Given the description of an element on the screen output the (x, y) to click on. 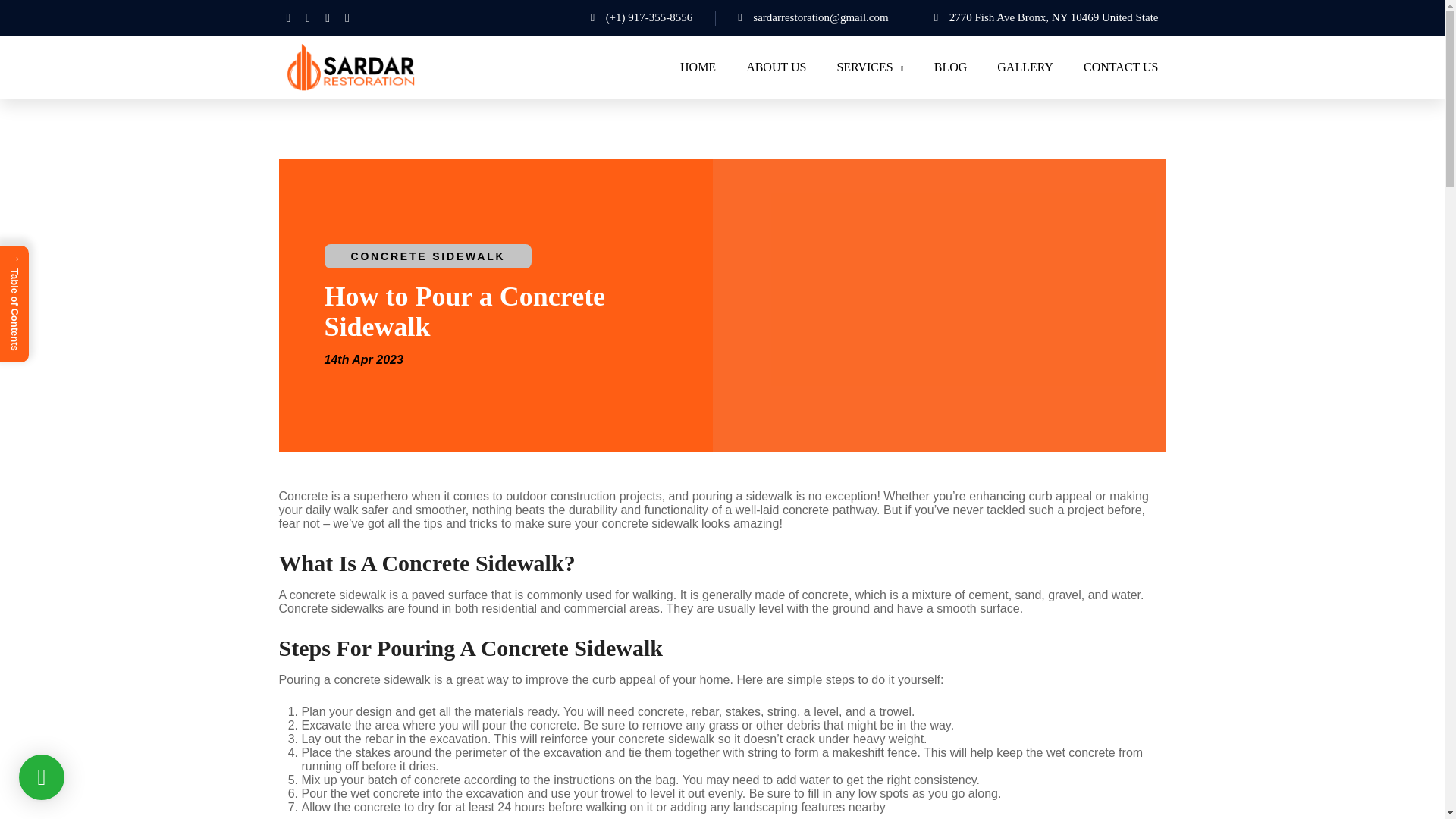
GALLERY (1024, 67)
BLOG (951, 67)
SERVICES (868, 67)
ABOUT US (775, 67)
CONTACT US (1120, 67)
Sardar Restoration Corp (350, 65)
2770 Fish Ave Bronx, NY 10469 United State (1023, 17)
HOME (697, 67)
